Given the description of an element on the screen output the (x, y) to click on. 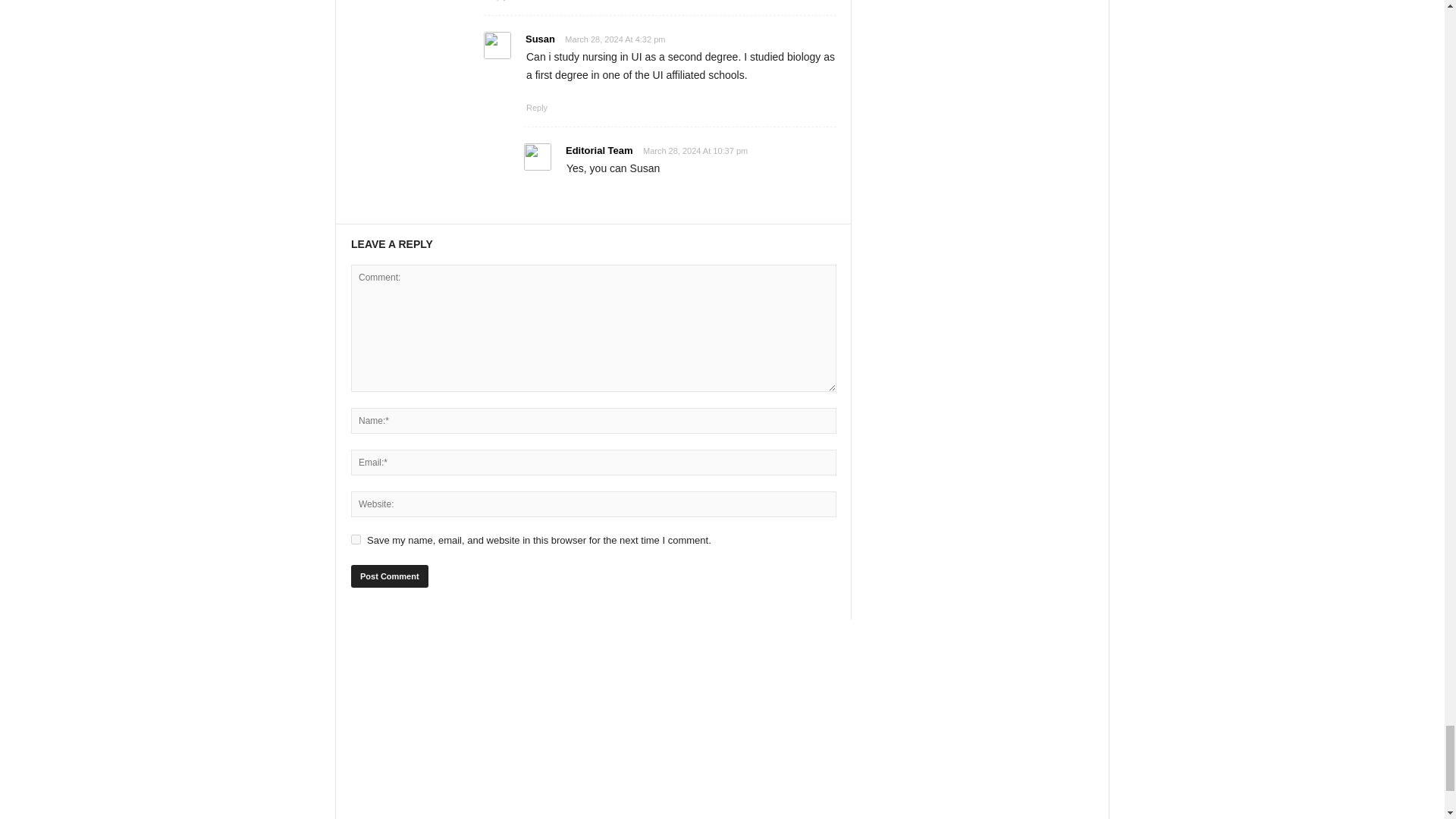
Post Comment (389, 576)
yes (355, 539)
